Given the description of an element on the screen output the (x, y) to click on. 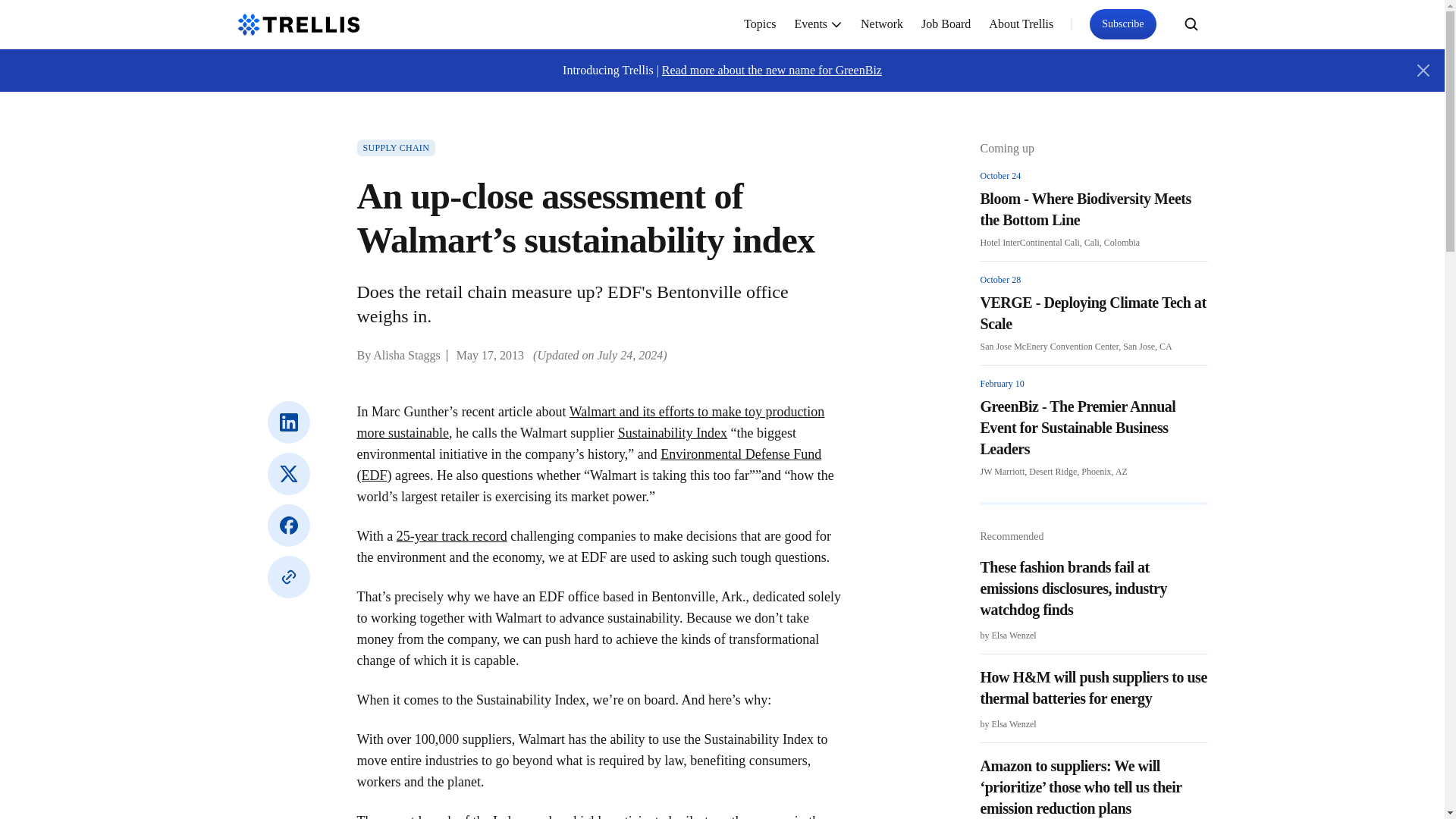
LinkedIn (287, 422)
Subscribe (1122, 24)
Facebook (287, 525)
Job Board (945, 24)
About Trellis (1020, 24)
Read more about the new name for GreenBiz (772, 70)
Website (287, 577)
25-year track record (451, 535)
By Alisha Staggs (397, 354)
Events (818, 24)
SUPPLY CHAIN (395, 147)
Sustainability Index (671, 432)
X (287, 473)
Network (881, 24)
